Given the description of an element on the screen output the (x, y) to click on. 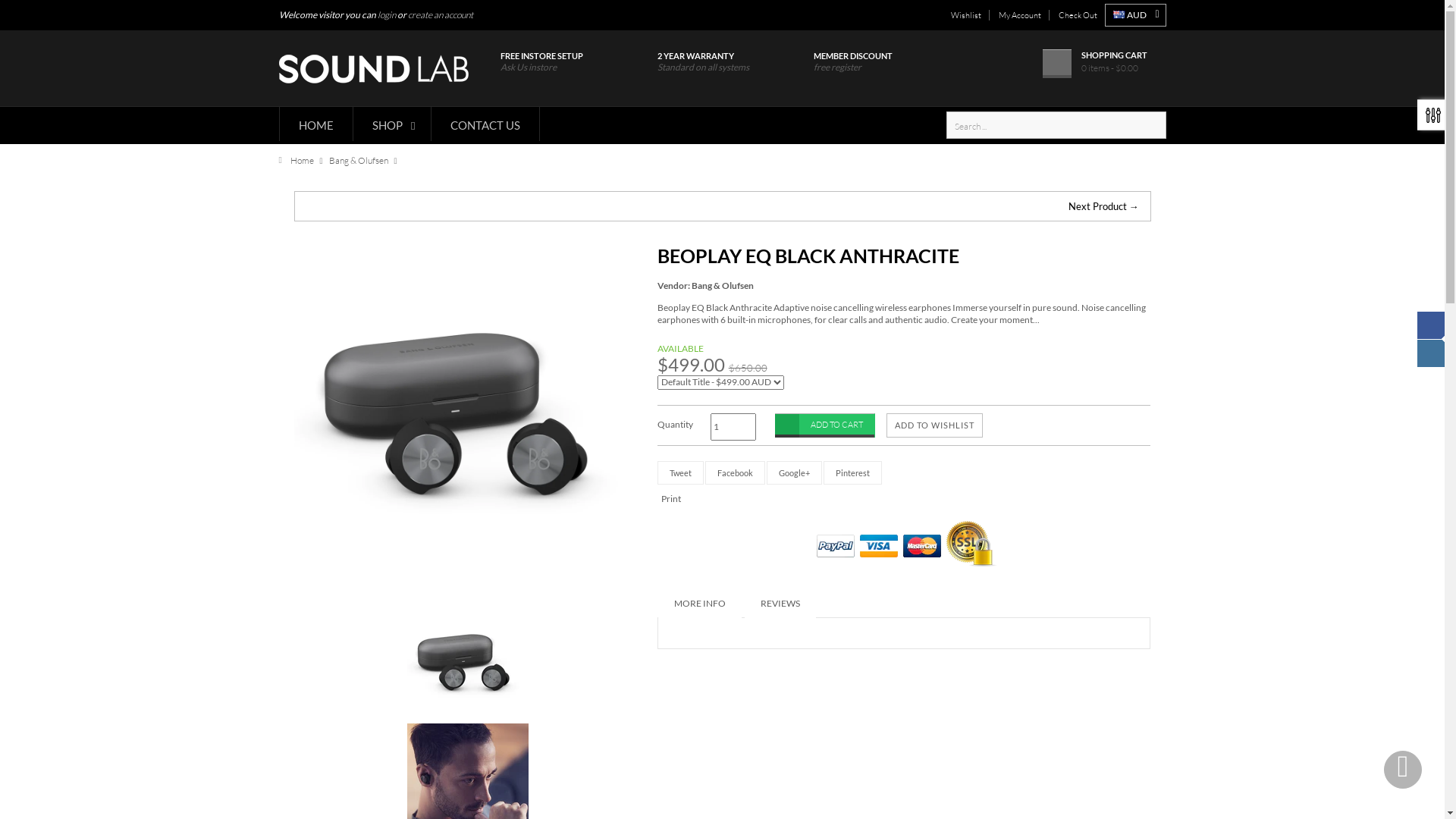
HOME Element type: text (315, 125)
Facebook Element type: text (735, 473)
CONTACT US Element type: text (484, 125)
Wishlist Element type: text (966, 14)
create an account Element type: text (440, 14)
Print Element type: text (670, 498)
Tweet Element type: text (680, 473)
Bang & Olufsen Element type: text (722, 285)
ADD TO WISHLIST Element type: text (934, 425)
ADD TO CART Element type: text (825, 425)
Google+ Element type: text (794, 473)
Pinterest Element type: text (852, 473)
Home Element type: text (296, 160)
Beoplay EQ Black Anthracite Element type: hover (468, 660)
MORE INFO Element type: text (699, 603)
Bang & Olufsen Element type: text (358, 160)
login Element type: text (386, 14)
SHOP Element type: text (390, 125)
Scroll To Top Element type: text (1402, 769)
Check Out Element type: text (1077, 14)
REVIEWS Element type: text (779, 603)
SHOPPING CART
0 items - $0.00 Element type: text (1103, 61)
My Account Element type: text (1019, 14)
